Given the description of an element on the screen output the (x, y) to click on. 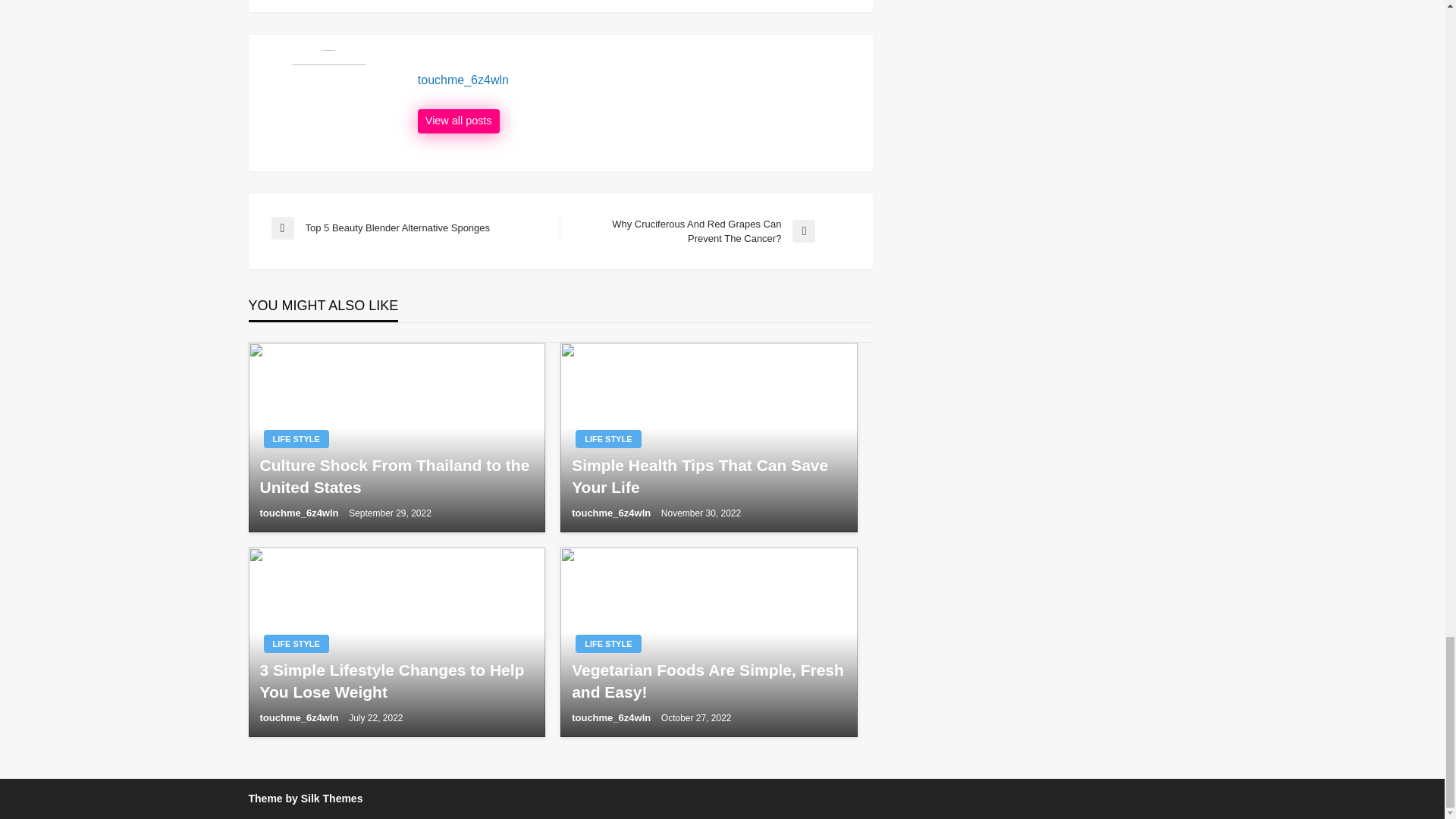
Vegetarian Foods Are Simple, Fresh and Easy! (415, 228)
Simple Health Tips That Can Save Your Life (708, 681)
LIFE STYLE (708, 476)
LIFE STYLE (296, 438)
View all posts (607, 438)
LIFE STYLE (458, 120)
LIFE STYLE (296, 643)
Culture Shock From Thailand to the United States (607, 643)
3 Simple Lifestyle Changes to Help You Lose Weight (396, 476)
